Given the description of an element on the screen output the (x, y) to click on. 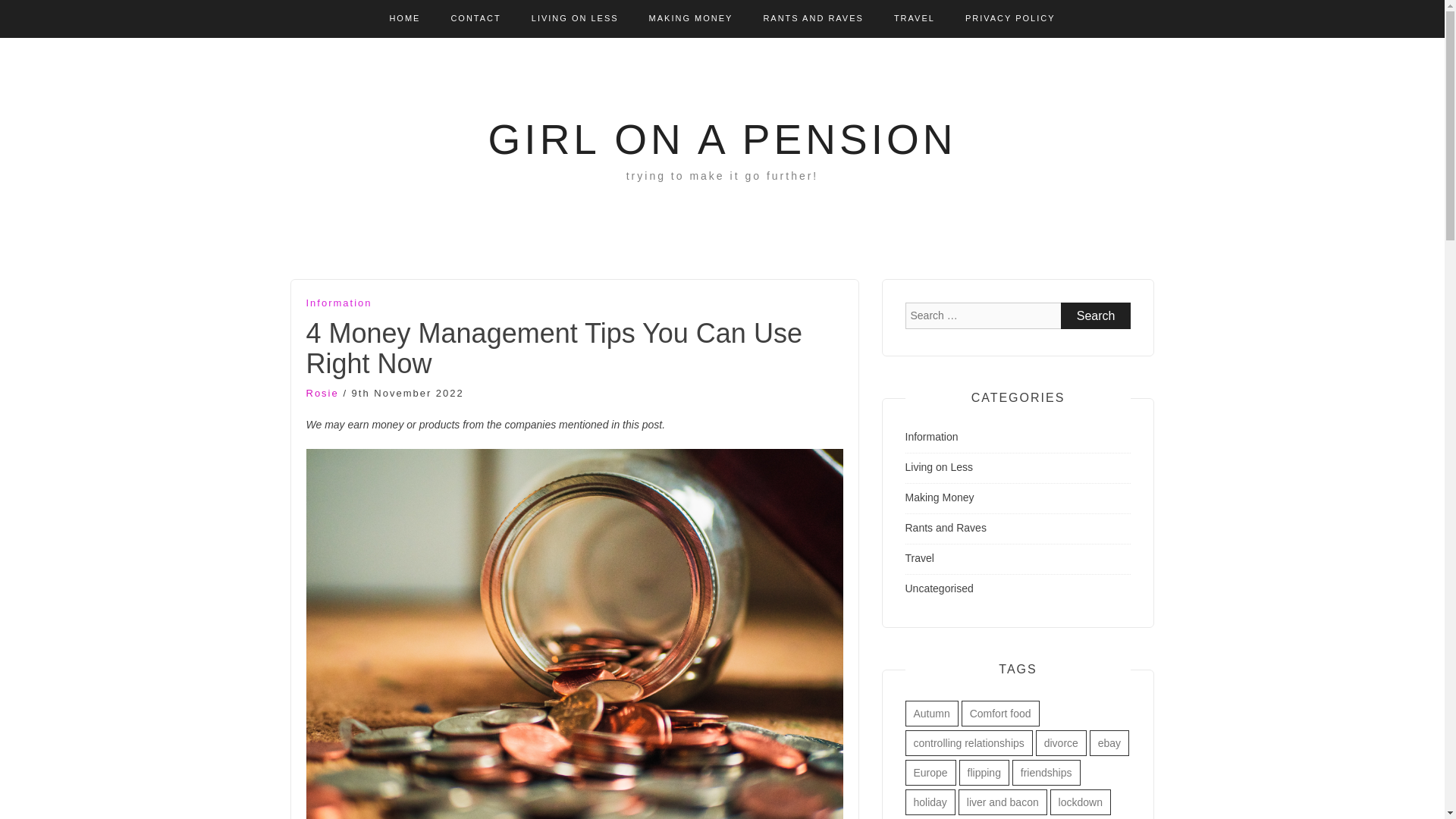
CONTACT (474, 18)
Search (1096, 315)
Rosie (322, 392)
GIRL ON A PENSION (721, 139)
Rants and Raves (946, 527)
Uncategorised (939, 588)
Autumn (931, 713)
MAKING MONEY (691, 18)
LIVING ON LESS (574, 18)
Making Money (939, 497)
